Given the description of an element on the screen output the (x, y) to click on. 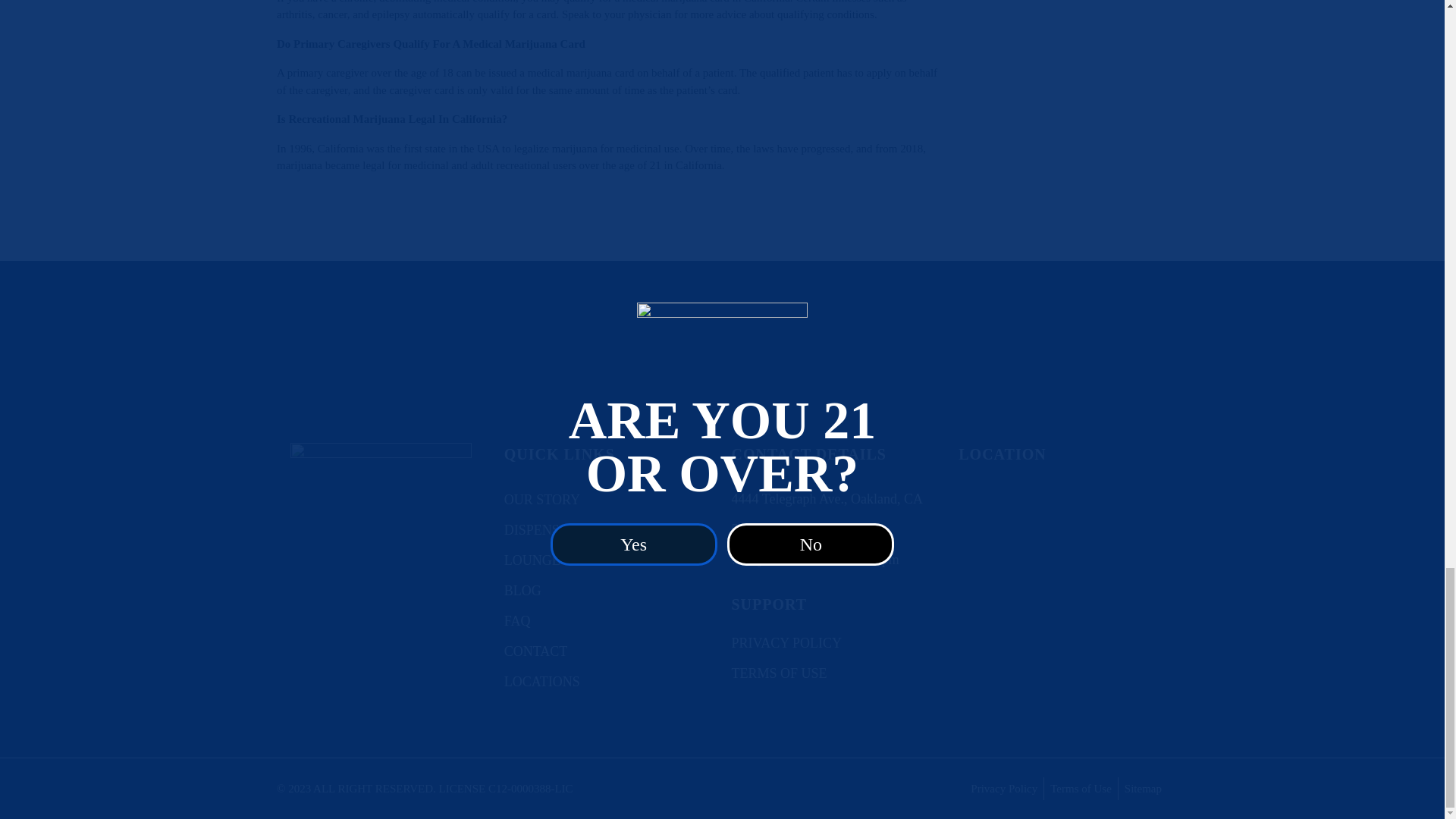
OUR STORY (541, 499)
DISPENSARY (545, 529)
LOUNGE (531, 560)
